Given the description of an element on the screen output the (x, y) to click on. 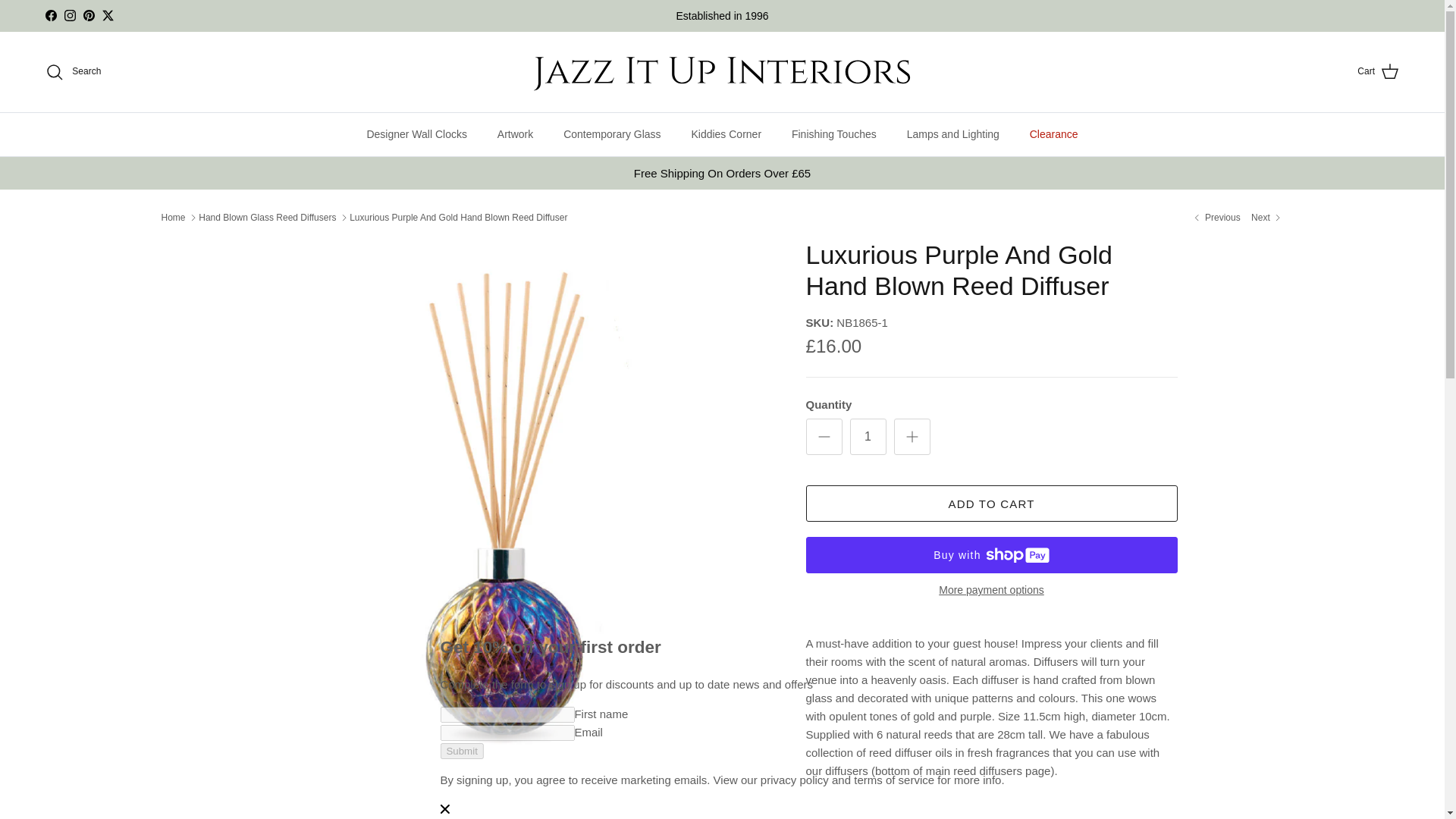
Twitter (107, 15)
Artwork (515, 134)
Contemporary Glass (612, 134)
Jazz It Up Interiors (721, 71)
Luxurious Gold And Silver Glass Diffuser (1266, 217)
Facebook (50, 15)
Jazz It Up Interiors on Instagram (69, 15)
Cart (1377, 71)
Jazz It Up Interiors on Facebook (50, 15)
Mixed Marbling Of Colours Reed Diffuser (1215, 217)
1 (866, 436)
Instagram (69, 15)
Search (72, 72)
Designer Wall Clocks (416, 134)
Pinterest (88, 15)
